Given the description of an element on the screen output the (x, y) to click on. 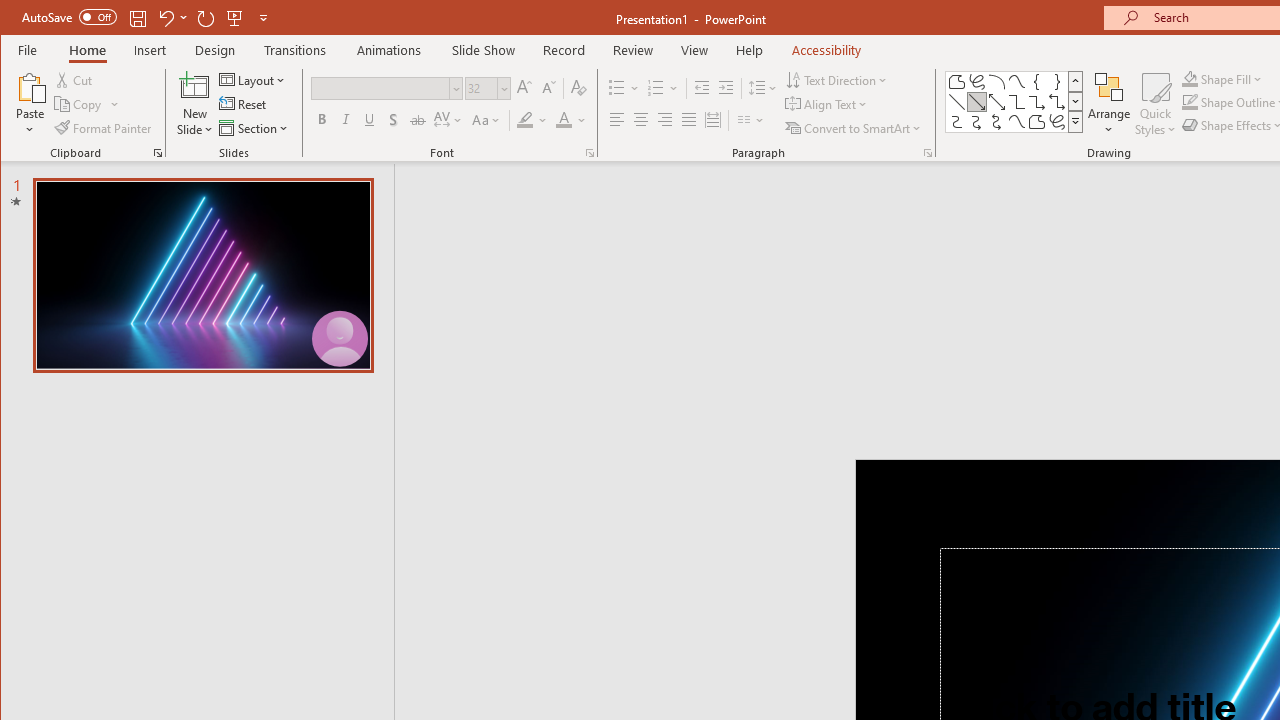
Line Arrow: Double (996, 102)
